Given the description of an element on the screen output the (x, y) to click on. 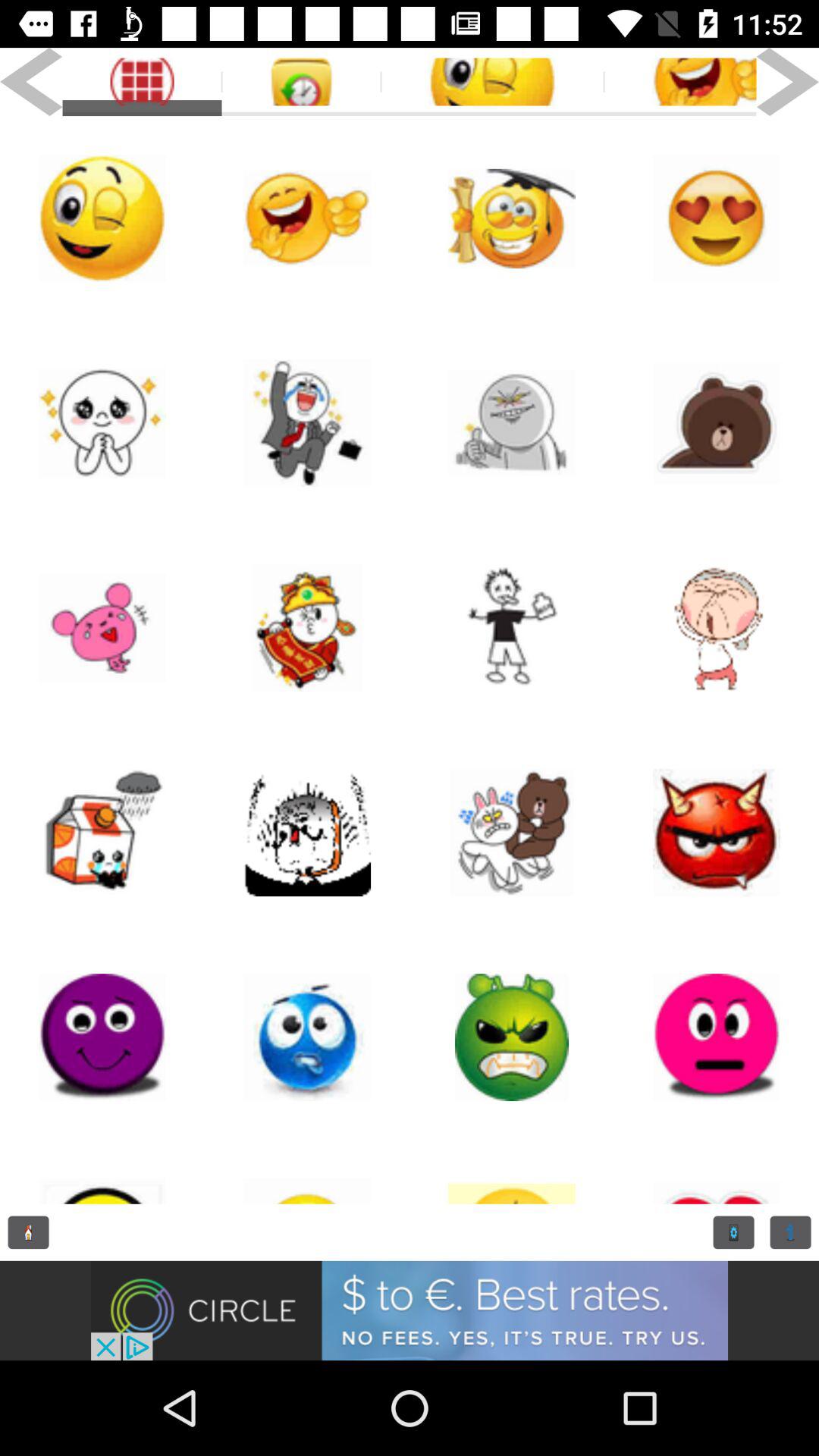
doll page (716, 1037)
